Given the description of an element on the screen output the (x, y) to click on. 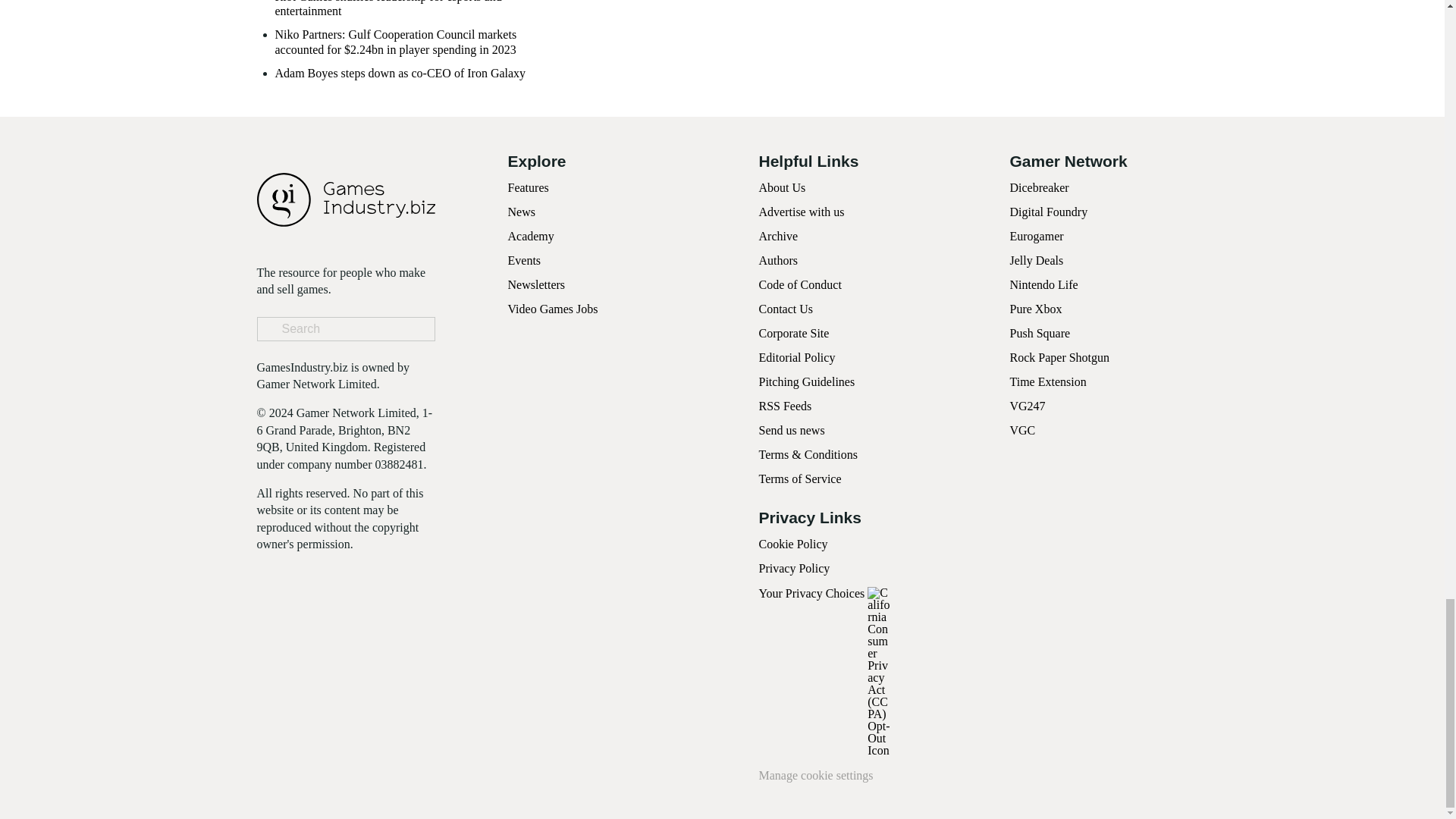
Video Games Jobs (553, 308)
Advertise with us (801, 211)
Archive (777, 236)
Events (524, 259)
News (521, 211)
Features (528, 187)
Academy (531, 236)
Riot Games shuffles leadership for esports and entertainment (409, 9)
About Us (781, 187)
Newsletters (537, 284)
